Given the description of an element on the screen output the (x, y) to click on. 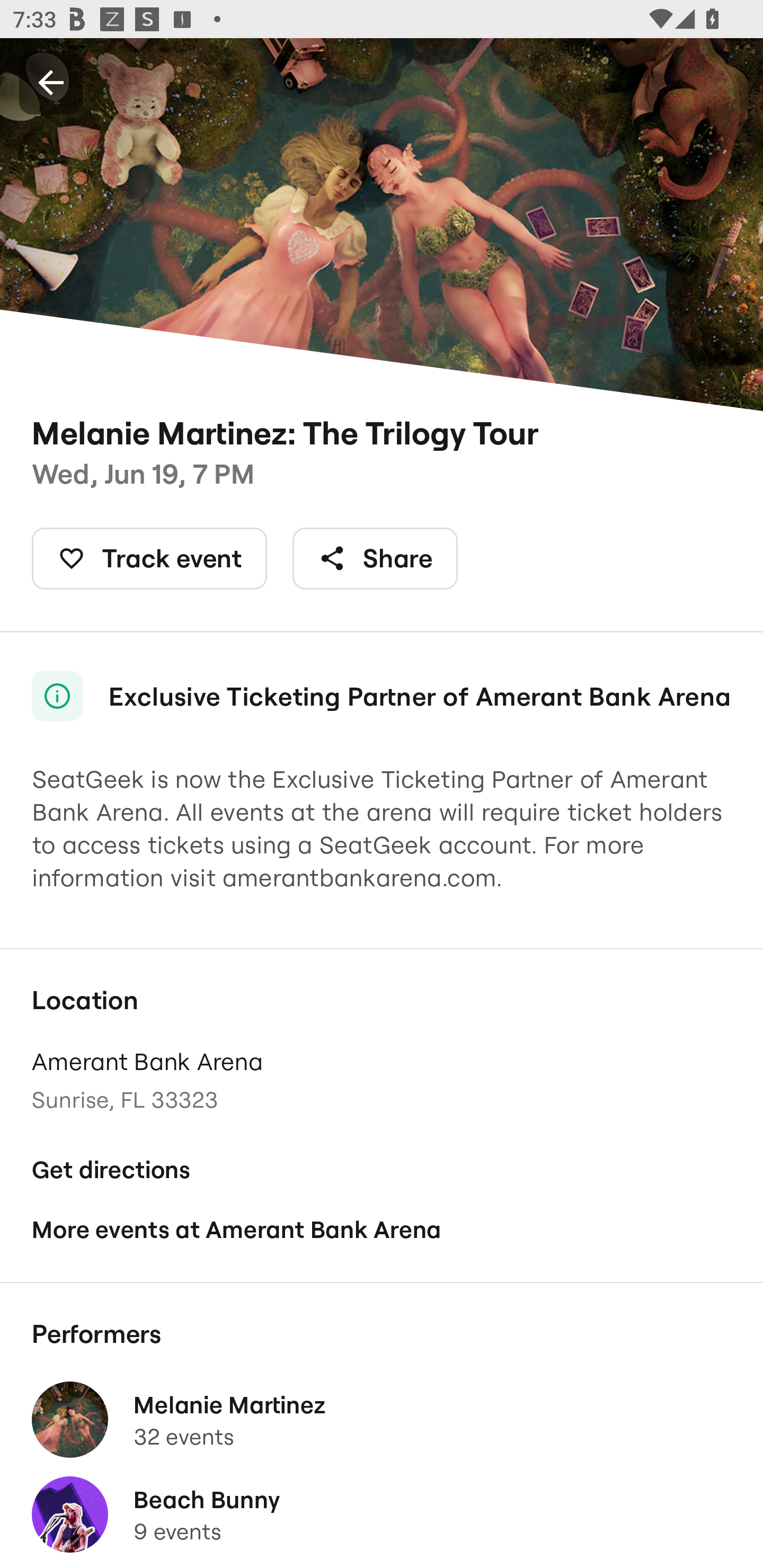
Back (50, 81)
Track event (149, 557)
Share (374, 557)
Get directions (381, 1169)
More events at Amerant Bank Arena (381, 1229)
Melanie Martinez 32 events (381, 1419)
Beach Bunny 9 events (381, 1514)
